Given the description of an element on the screen output the (x, y) to click on. 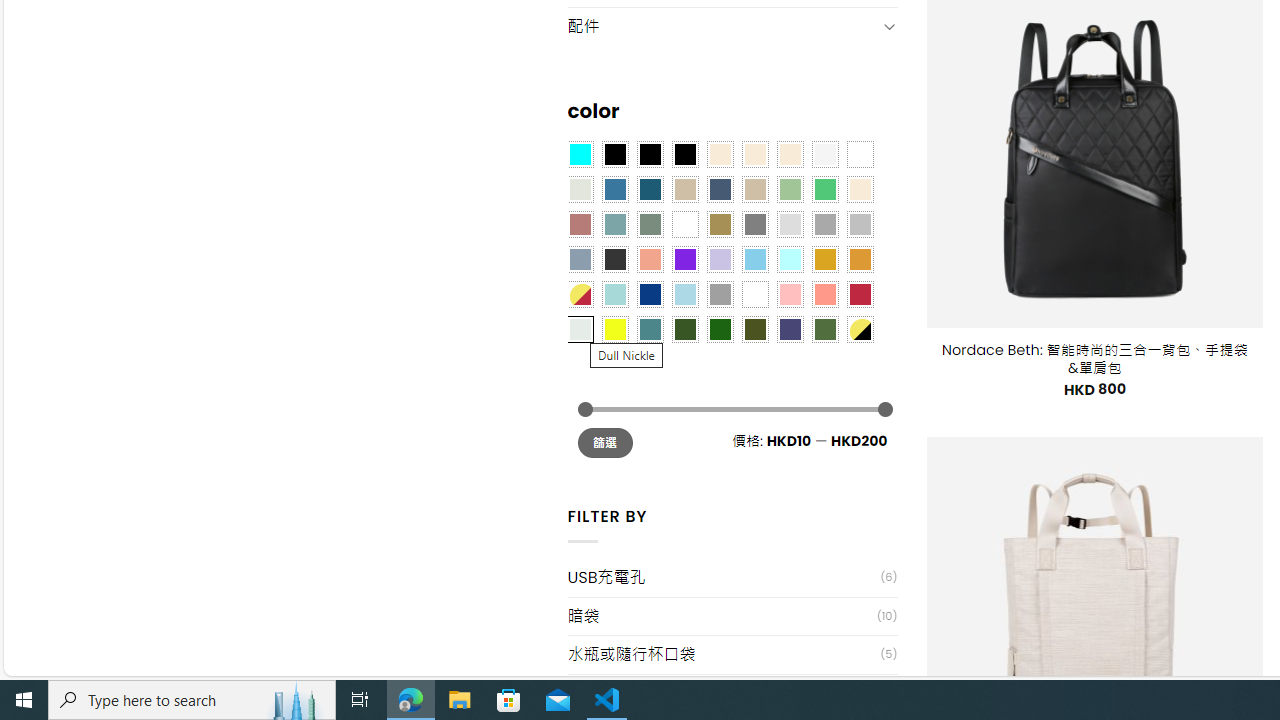
Dull Nickle (579, 329)
Cream (789, 154)
